Given the description of an element on the screen output the (x, y) to click on. 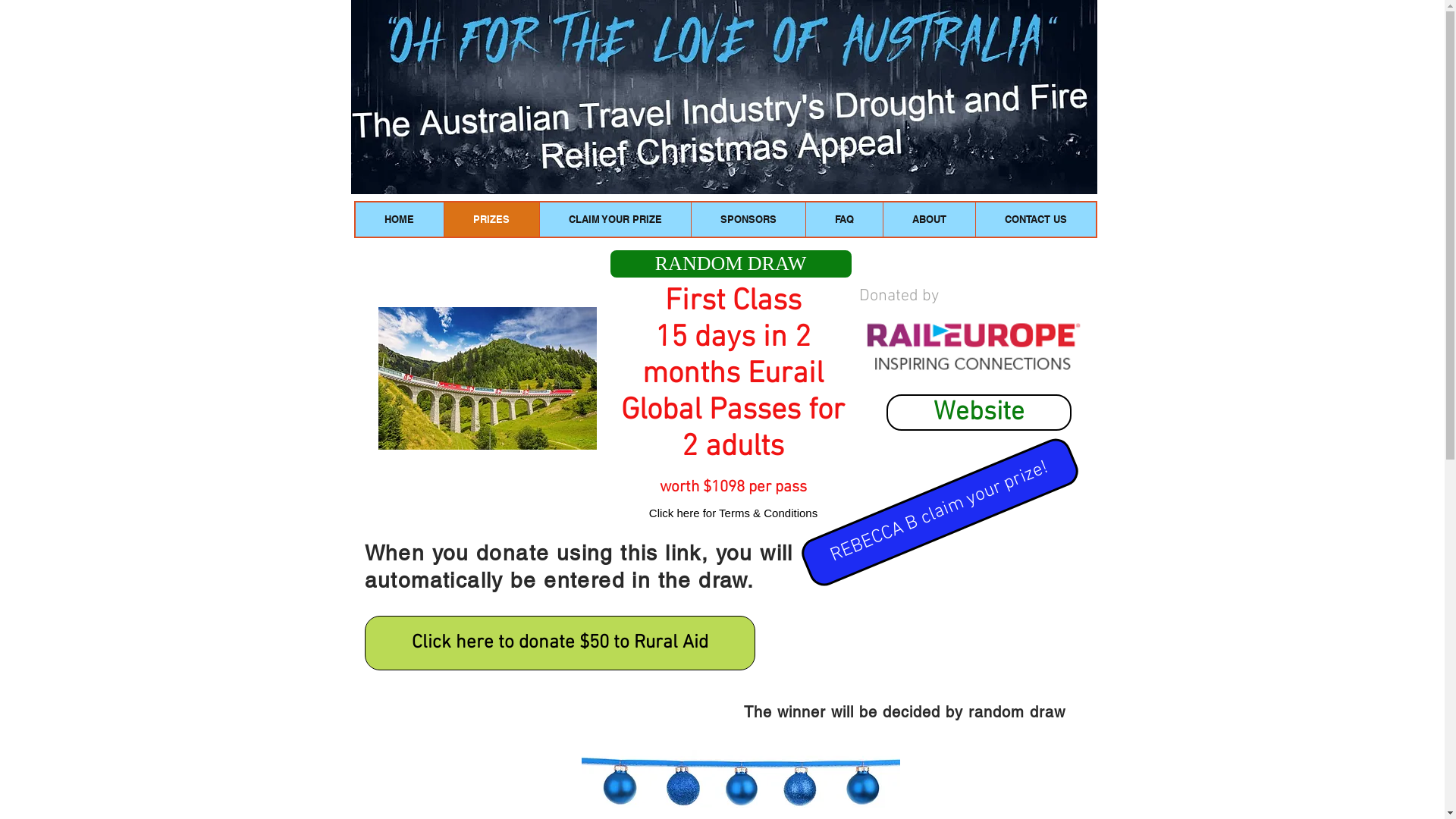
CLAIM YOUR PRIZE Element type: text (614, 219)
REBECCA B claim your prize! Element type: text (941, 458)
CONTACT US Element type: text (1035, 219)
Click here to donate $50 to Rural Aid Element type: text (559, 642)
SPONSORS Element type: text (747, 219)
Website Element type: text (977, 412)
ABOUT Element type: text (928, 219)
FAQ Element type: text (843, 219)
Click here for Terms & Conditions Element type: text (732, 512)
HOME Element type: text (398, 219)
PRIZES Element type: text (490, 219)
